Given the description of an element on the screen output the (x, y) to click on. 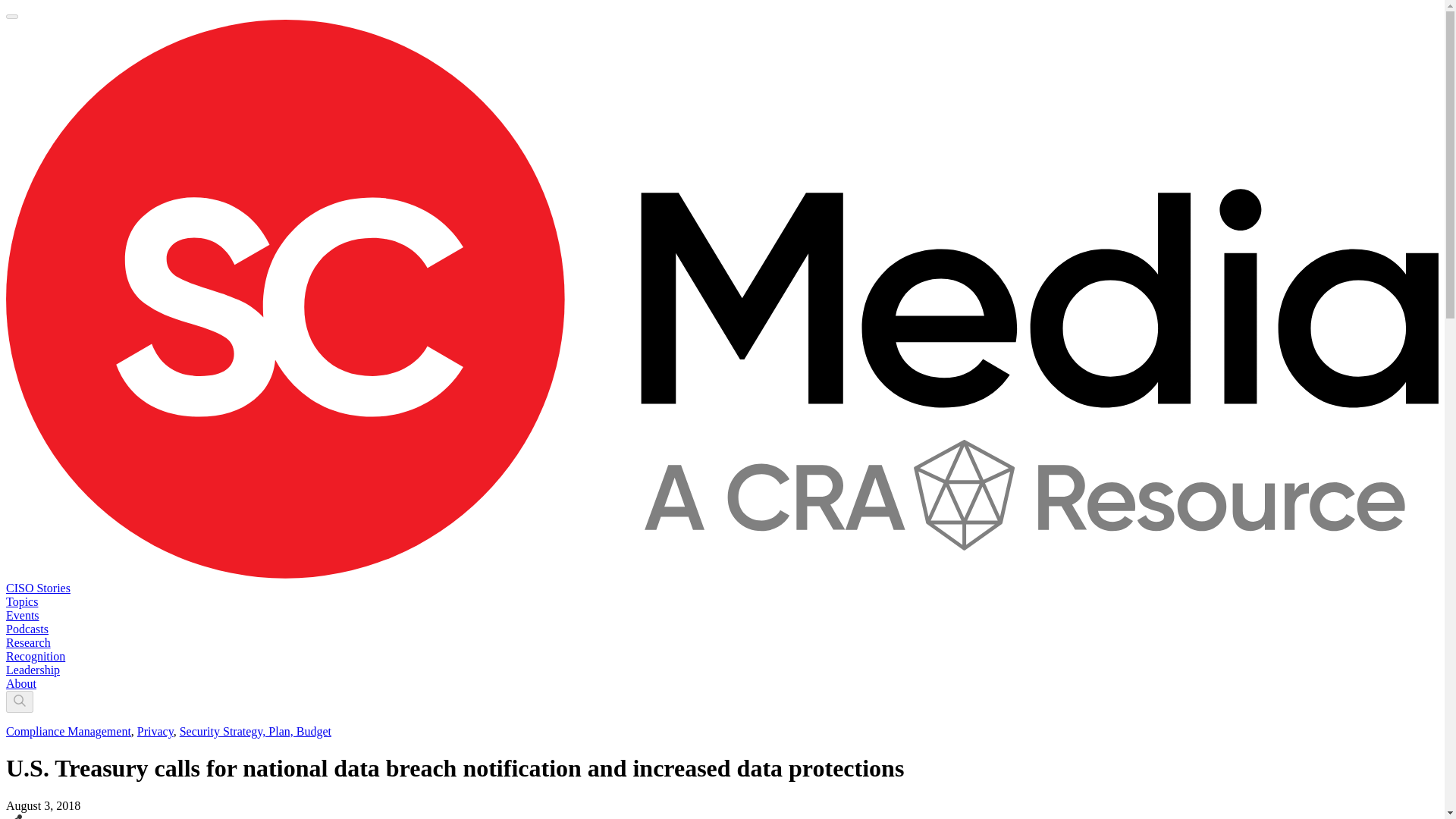
Privacy (154, 730)
Leadership (32, 669)
Podcasts (26, 628)
Recognition (35, 656)
Security Strategy, Plan, Budget (255, 730)
Events (22, 615)
About (20, 683)
Research (27, 642)
Topics (21, 601)
CISO Stories (37, 587)
Compliance Management (68, 730)
